Given the description of an element on the screen output the (x, y) to click on. 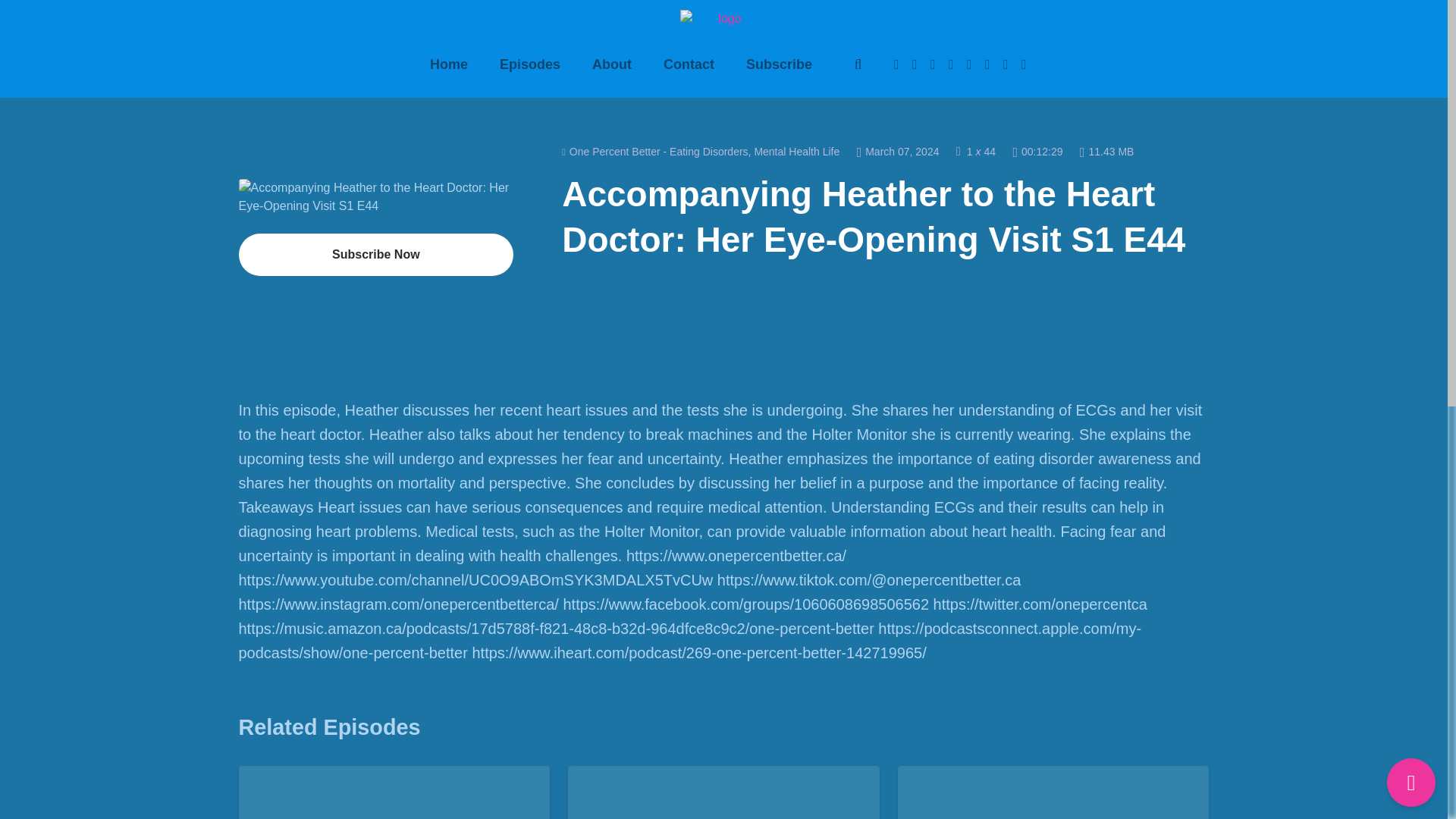
Home (448, 65)
Finding Freedom with Food and Body S1 E 70 (394, 798)
Episode Weight (1107, 150)
Date (898, 150)
Episodes (529, 65)
Subscribe Now (375, 254)
Podcast (701, 151)
About (611, 65)
Subscribe (779, 65)
One Percent Better - Eating Disorders, Mental Health Life (701, 151)
Episode Duration (1036, 150)
Contact (688, 65)
